Given the description of an element on the screen output the (x, y) to click on. 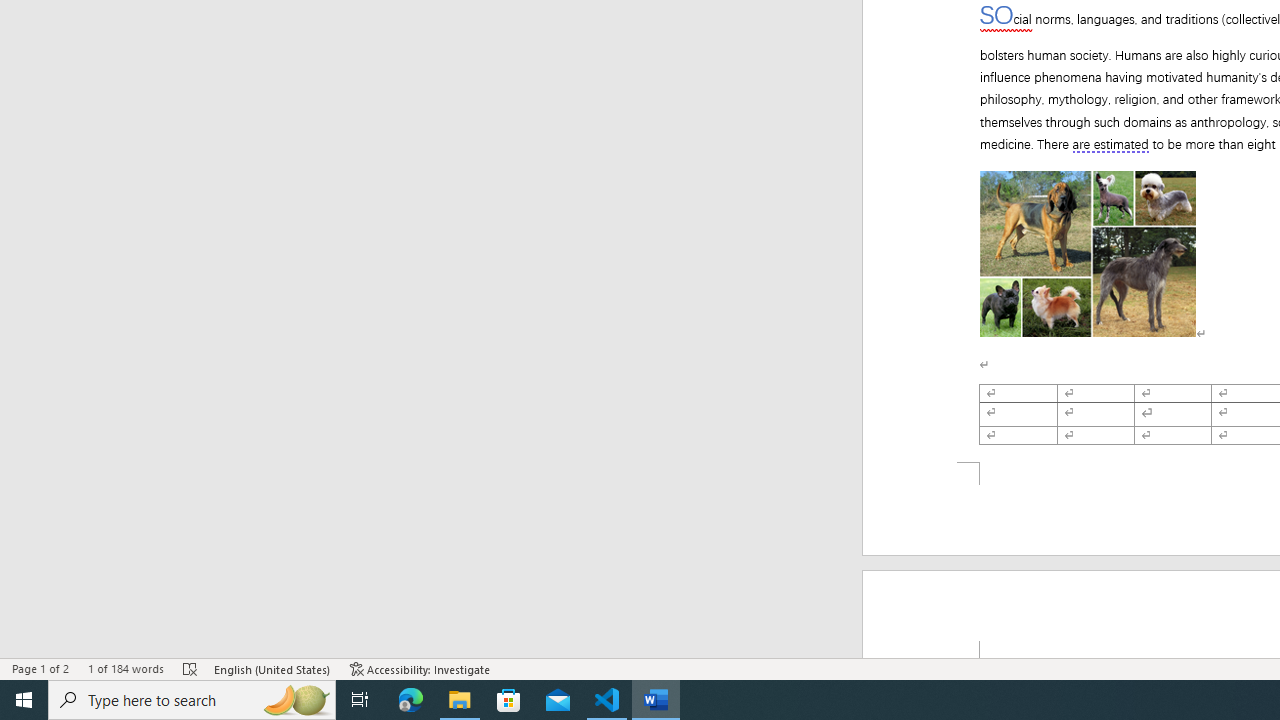
Page Number Page 1 of 2 (39, 668)
Spelling and Grammar Check Errors (191, 668)
Morphological variation in six dogs (1087, 253)
